Given the description of an element on the screen output the (x, y) to click on. 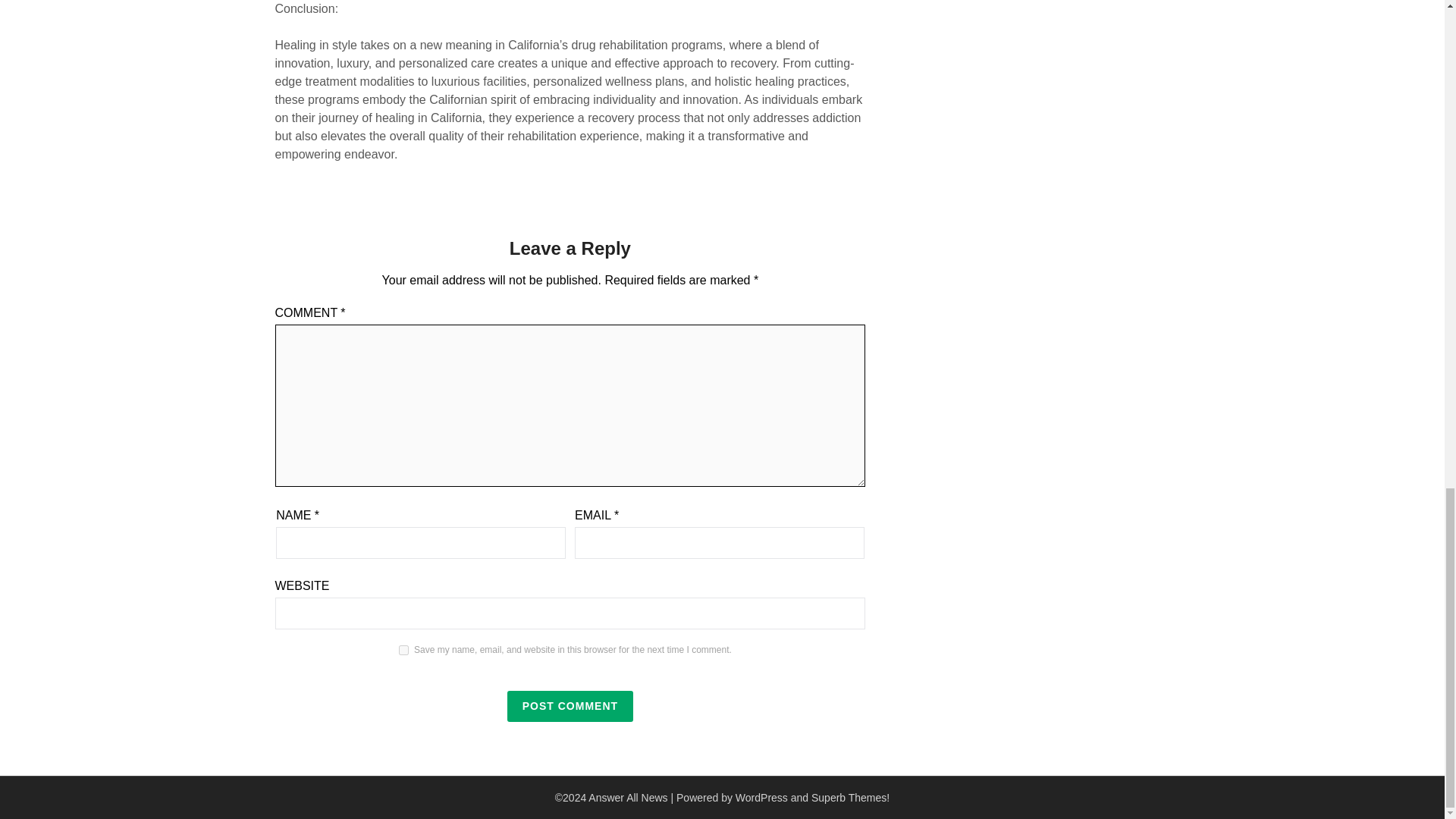
yes (403, 650)
Superb Themes! (849, 797)
Post Comment (569, 706)
Post Comment (569, 706)
